Given the description of an element on the screen output the (x, y) to click on. 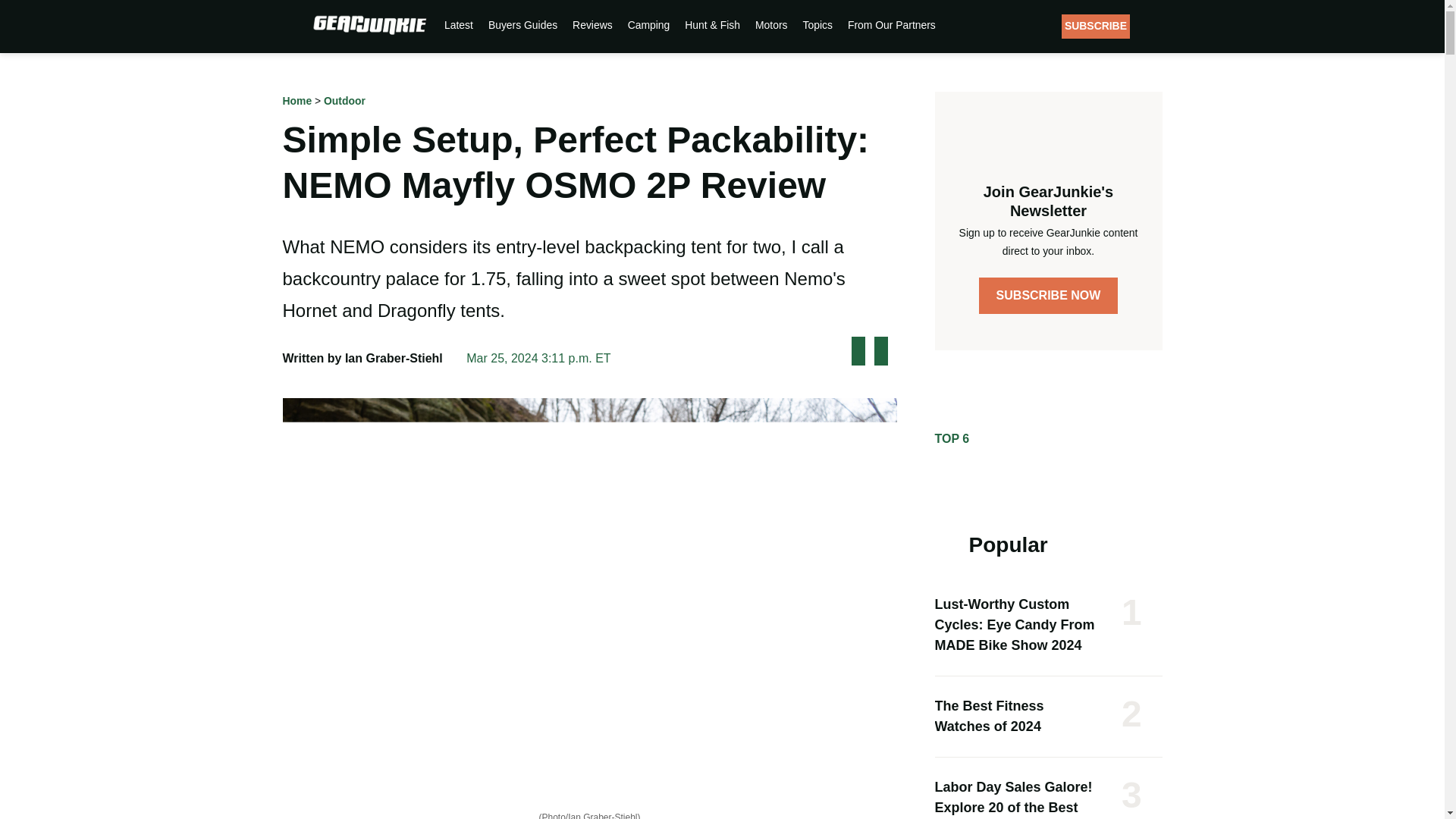
Camping (648, 24)
Topics (817, 24)
Search (1154, 26)
Motors (770, 24)
Posts by Ian Graber-Stiehl (393, 358)
Latest (458, 24)
Reviews (592, 24)
Buyers Guides (522, 24)
SUBSCRIBE (1095, 26)
